Given the description of an element on the screen output the (x, y) to click on. 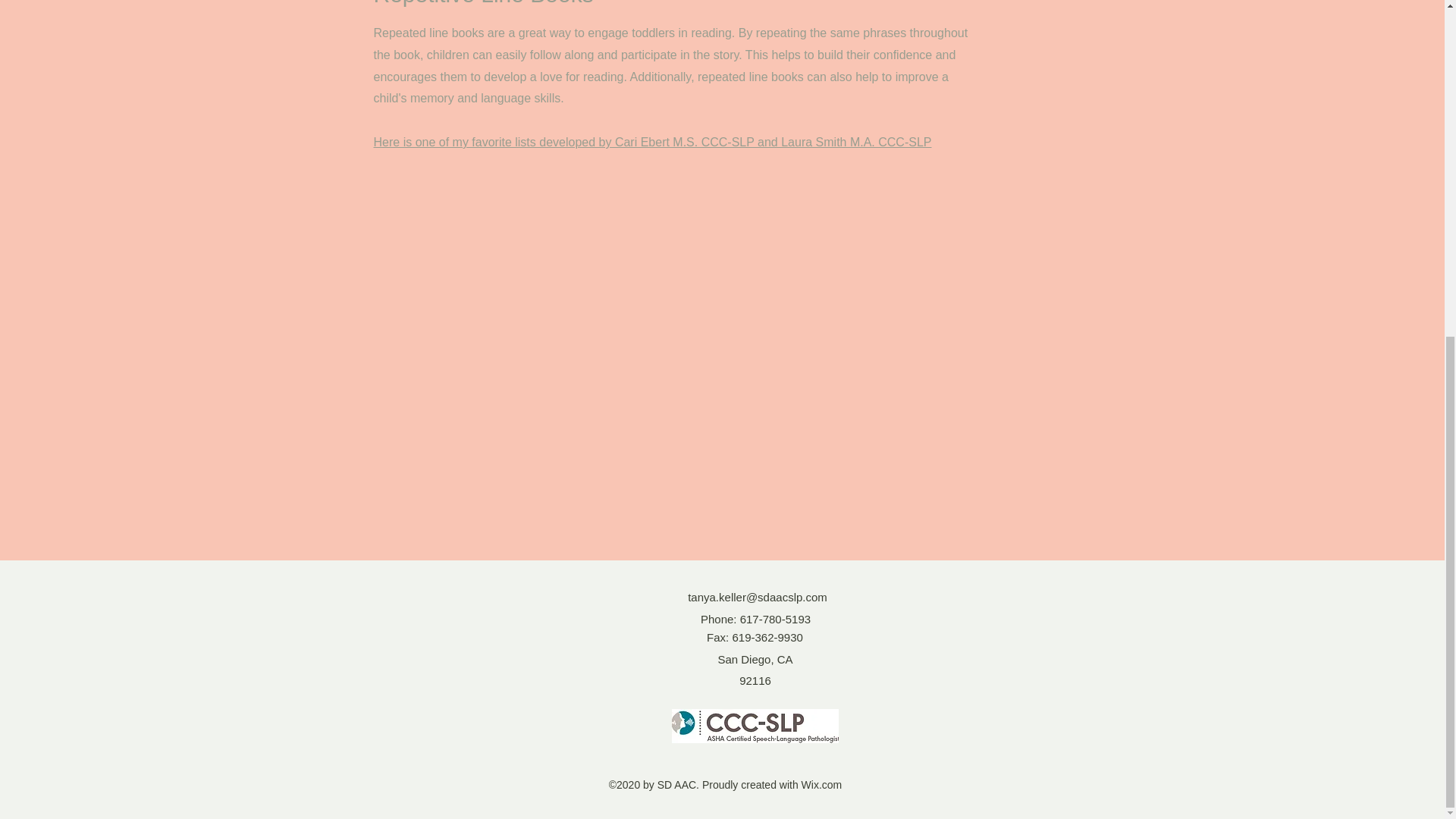
asha-ccc-slp-color.jpg (754, 725)
